Given the description of an element on the screen output the (x, y) to click on. 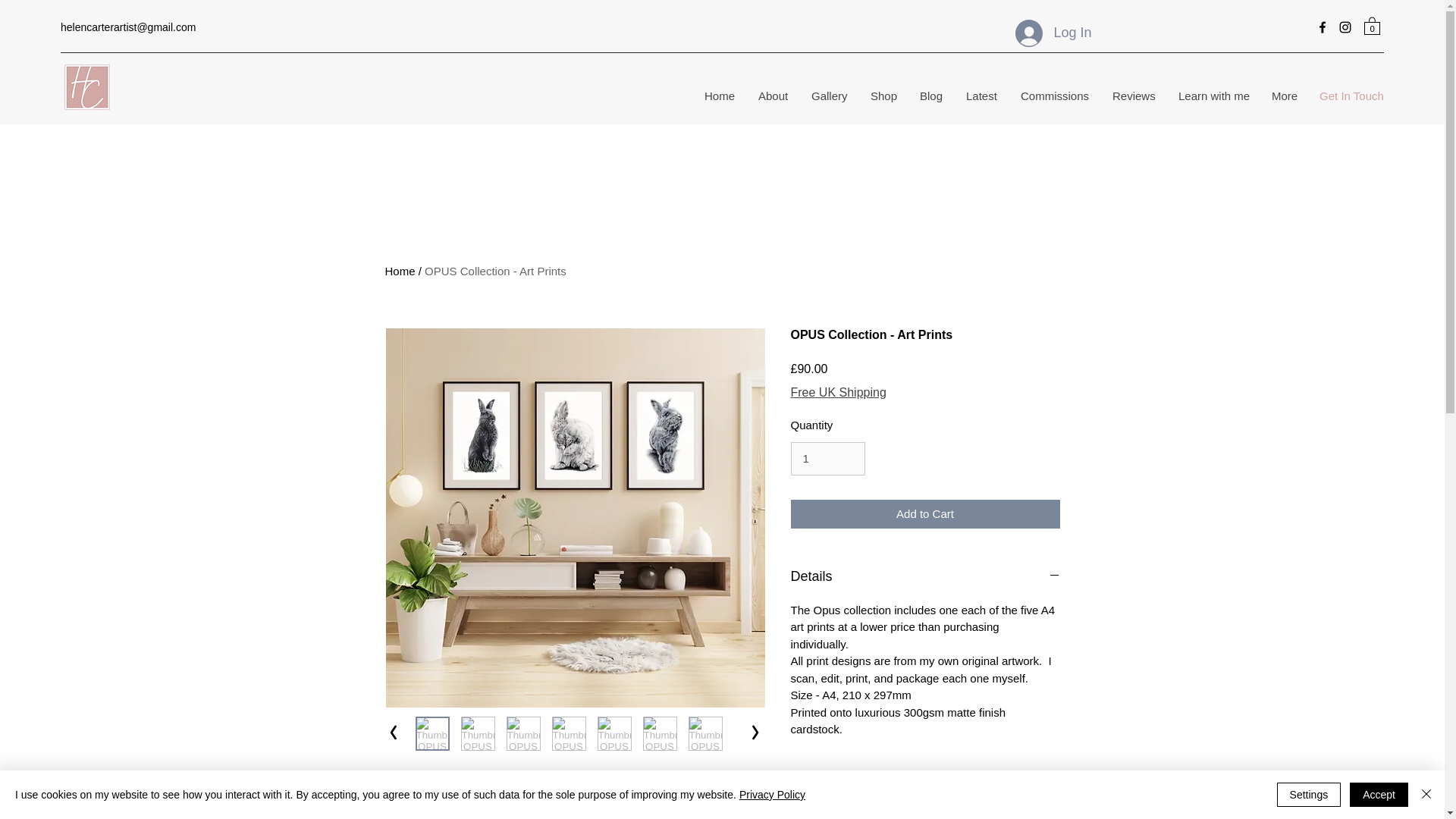
OPUS Collection - Art Prints (495, 270)
Latest (980, 96)
Details (924, 576)
Learn with me (1212, 96)
About (772, 96)
Gallery (829, 96)
Add to Cart (924, 514)
Home (399, 270)
Free UK Shipping (837, 392)
1 (827, 458)
